Given the description of an element on the screen output the (x, y) to click on. 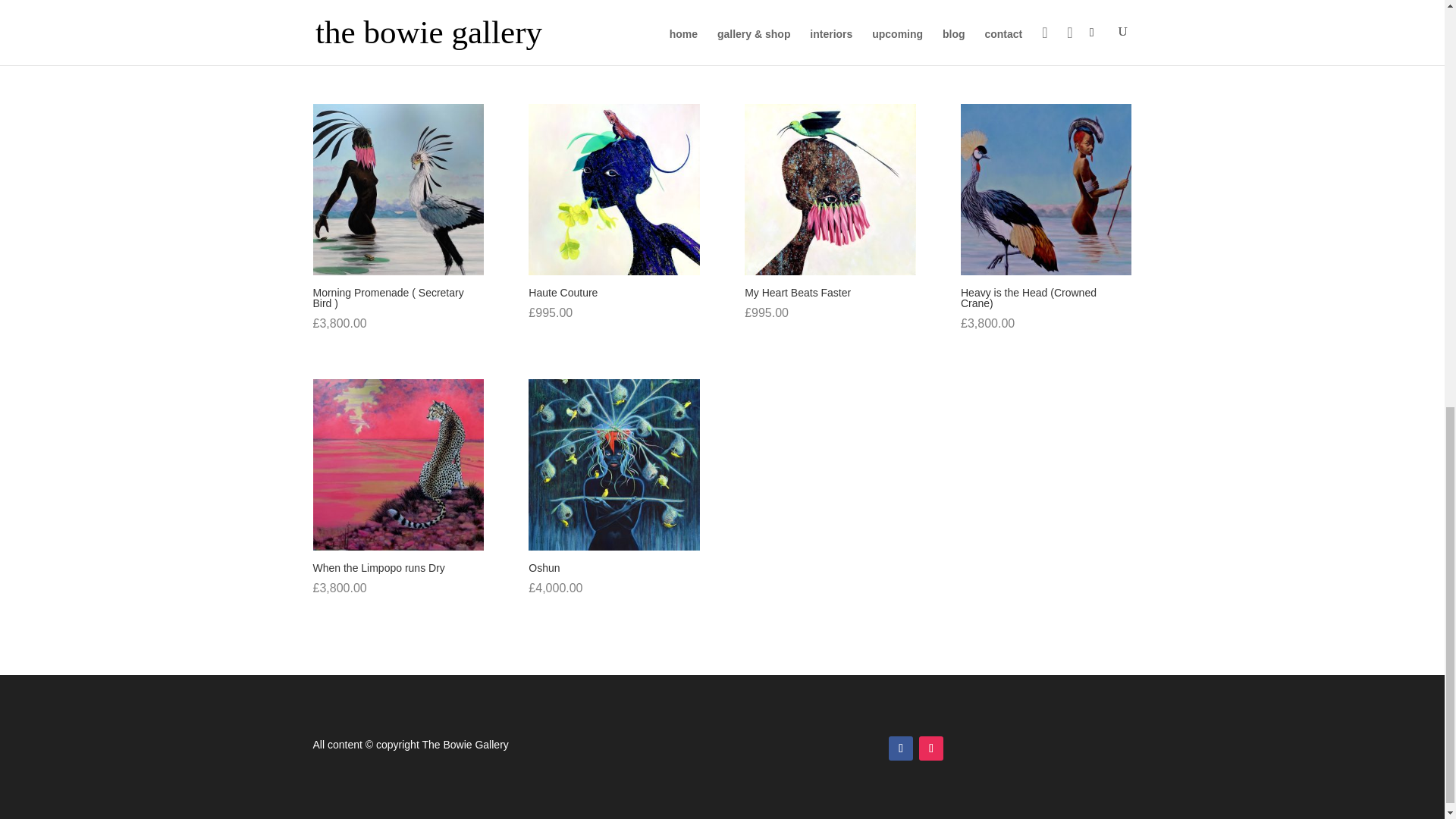
Follow on Instagram (930, 748)
Follow on Facebook (900, 748)
Limited edition print Not One of Us (829, 19)
